Given the description of an element on the screen output the (x, y) to click on. 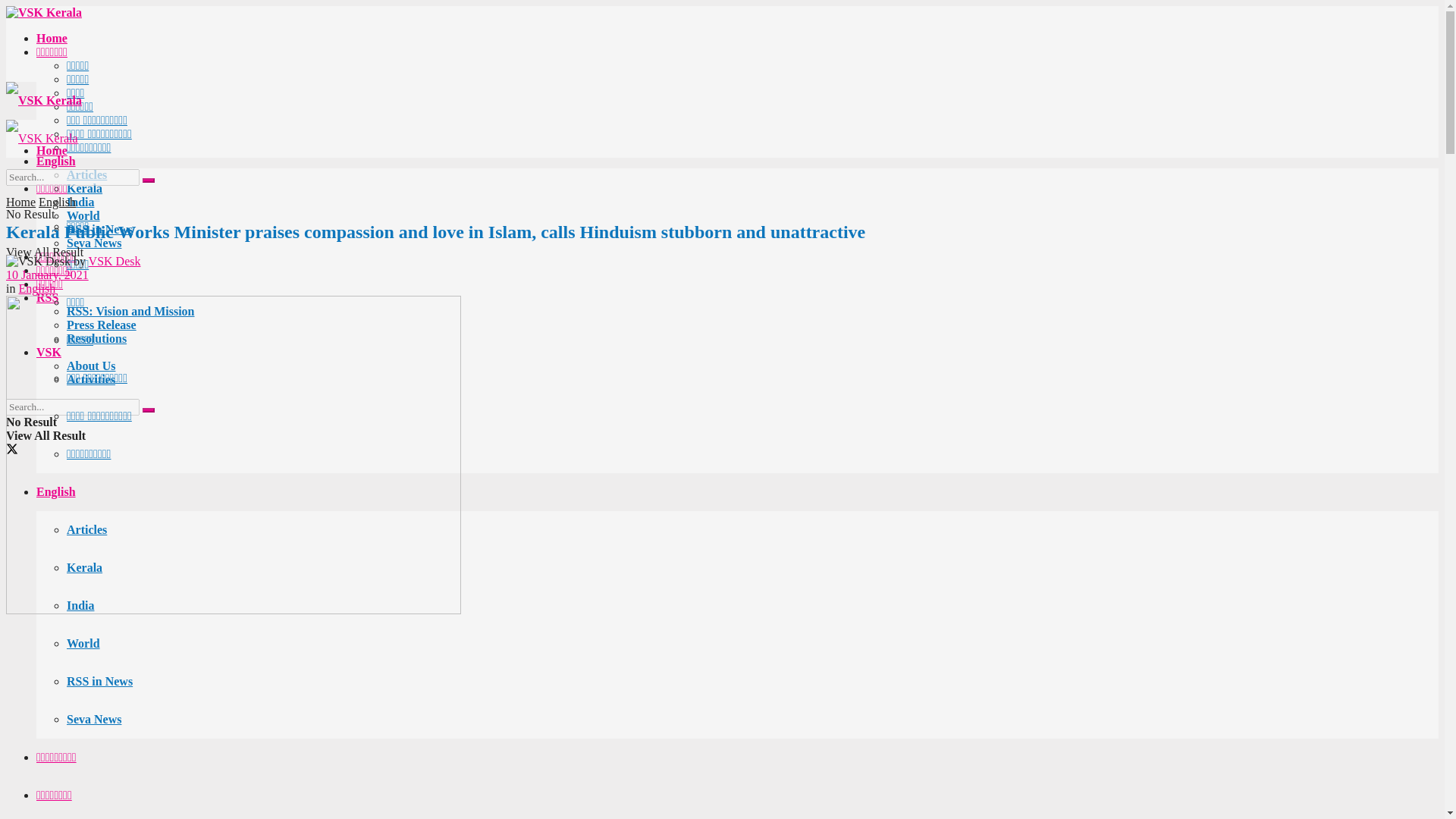
Articles (86, 174)
World (83, 215)
Home (51, 38)
Press Release (101, 324)
English (55, 160)
About Us (90, 365)
RSS (47, 297)
VSK (48, 351)
India (80, 201)
Kerala (83, 187)
Resolutions (96, 338)
RSS: Vision and Mission (130, 310)
Home (51, 150)
Activities (90, 379)
RSS in News (99, 228)
